Given the description of an element on the screen output the (x, y) to click on. 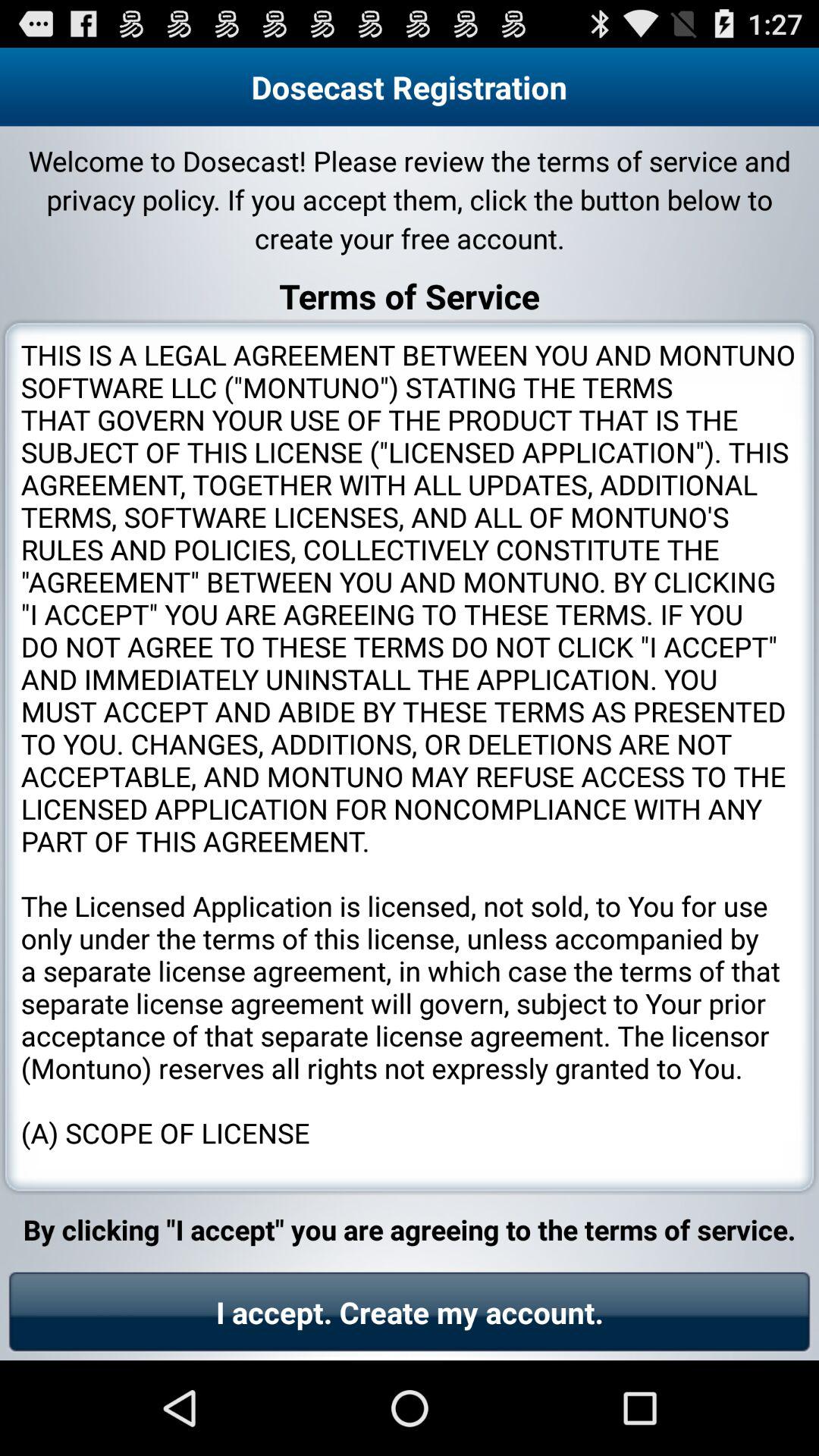
choose icon below terms of service app (409, 756)
